Given the description of an element on the screen output the (x, y) to click on. 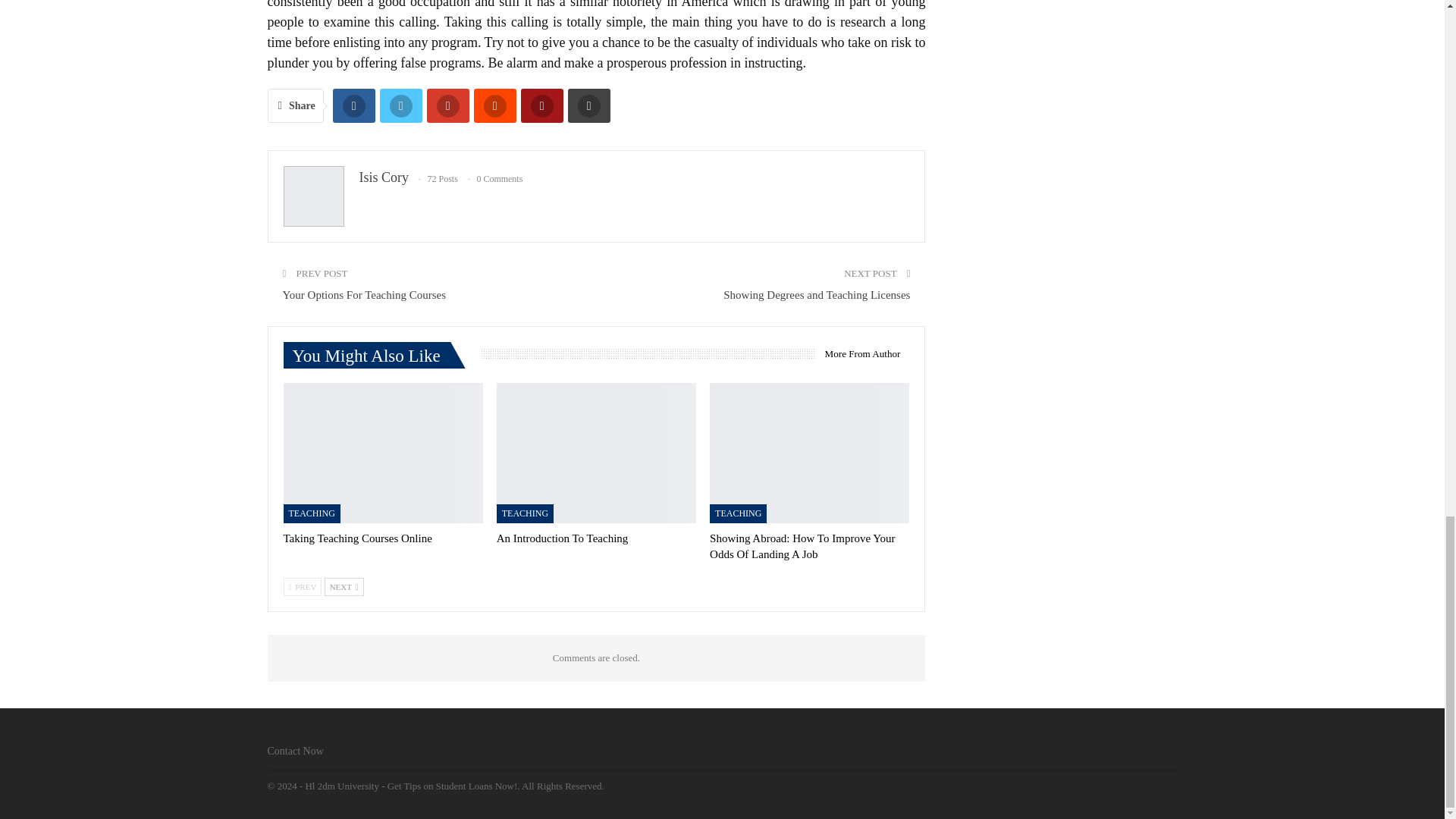
Taking Teaching Courses Online (357, 538)
An Introduction To Teaching (562, 538)
Taking Teaching Courses Online (383, 452)
Next (344, 587)
Showing Abroad: How To Improve Your Odds Of Landing A Job (809, 452)
Showing Abroad: How To Improve Your Odds Of Landing A Job (802, 546)
Previous (302, 587)
An Introduction To Teaching (595, 452)
